Given the description of an element on the screen output the (x, y) to click on. 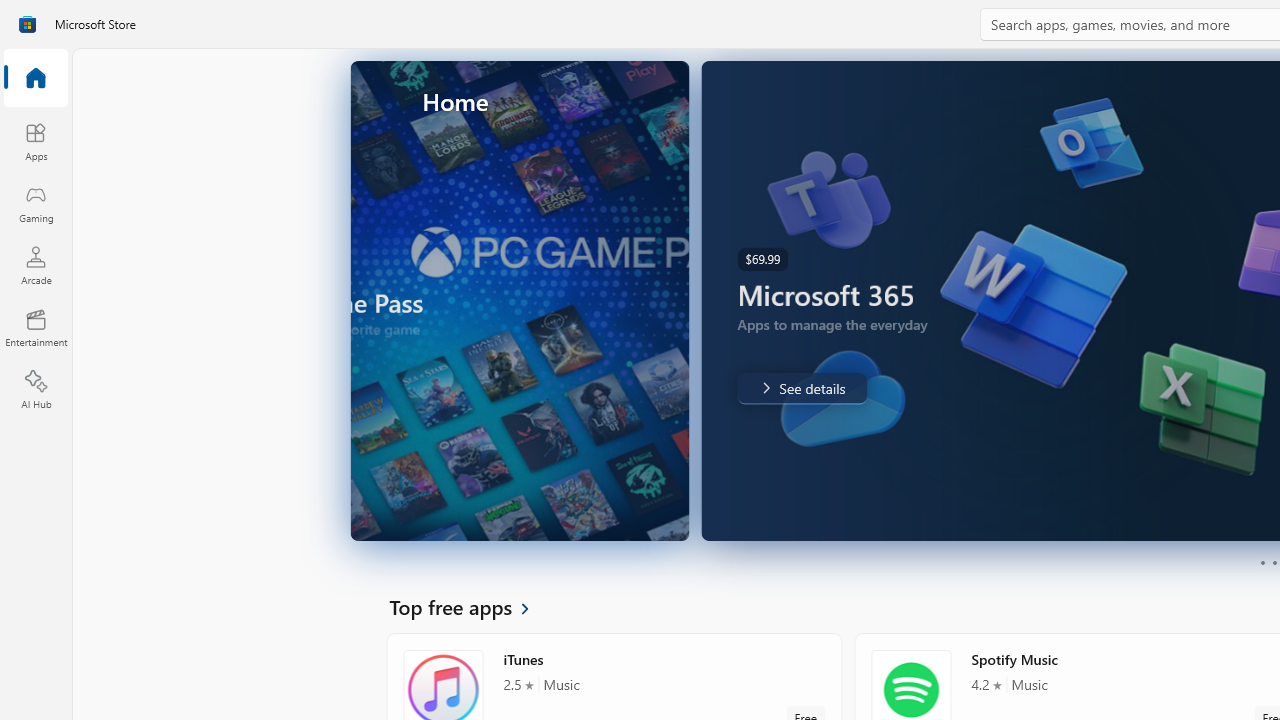
Class: Image (27, 24)
Entertainment (35, 327)
See all  Top free apps (471, 606)
Arcade (35, 265)
AutomationID: Image (815, 300)
Page 2 (1274, 562)
Home (35, 79)
AI Hub (35, 390)
Page 1 (1261, 562)
Gaming (35, 203)
